Given the description of an element on the screen output the (x, y) to click on. 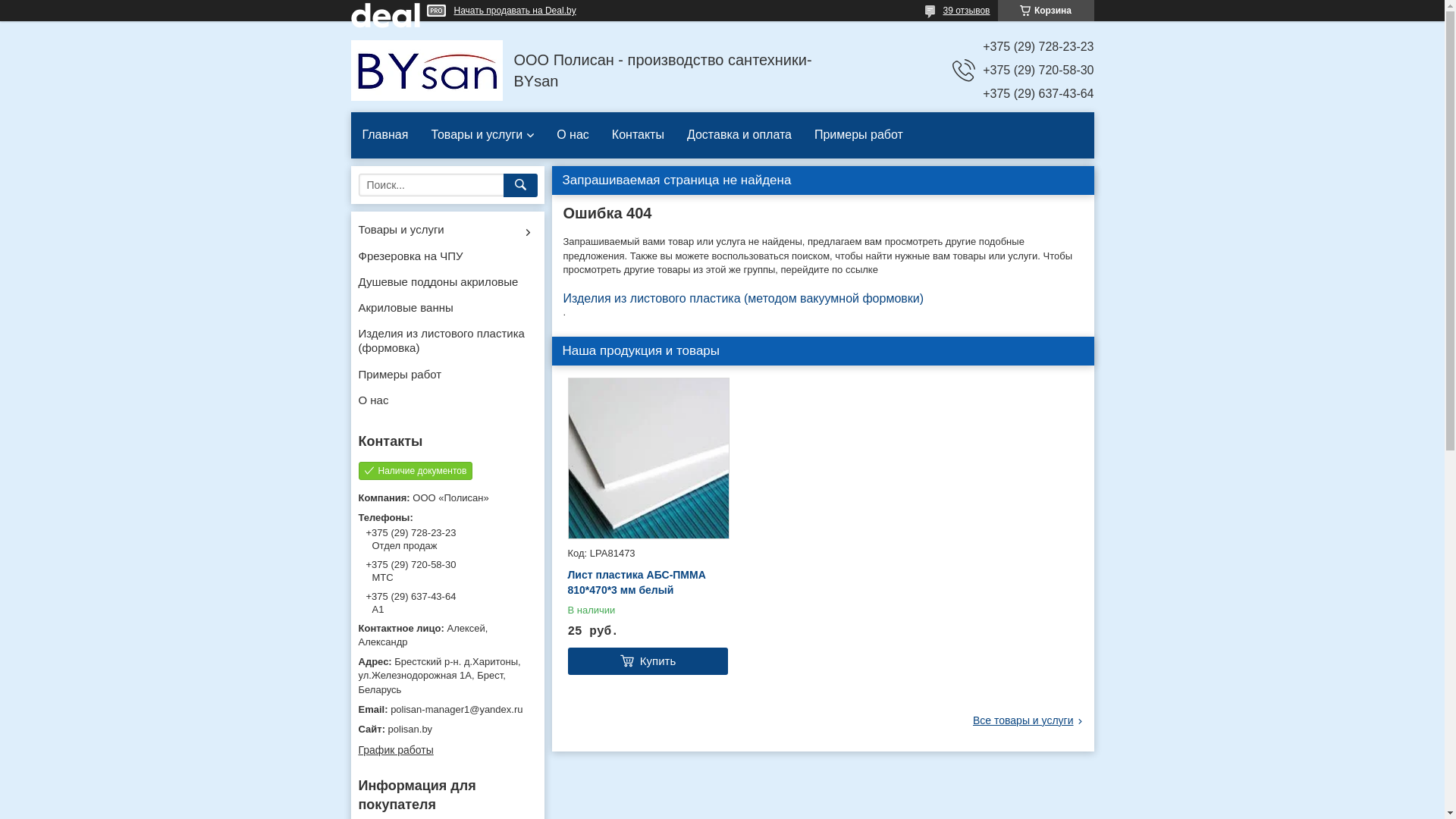
polisan.by Element type: text (446, 729)
polisan-manager1@yandex.ru Element type: text (446, 709)
